Given the description of an element on the screen output the (x, y) to click on. 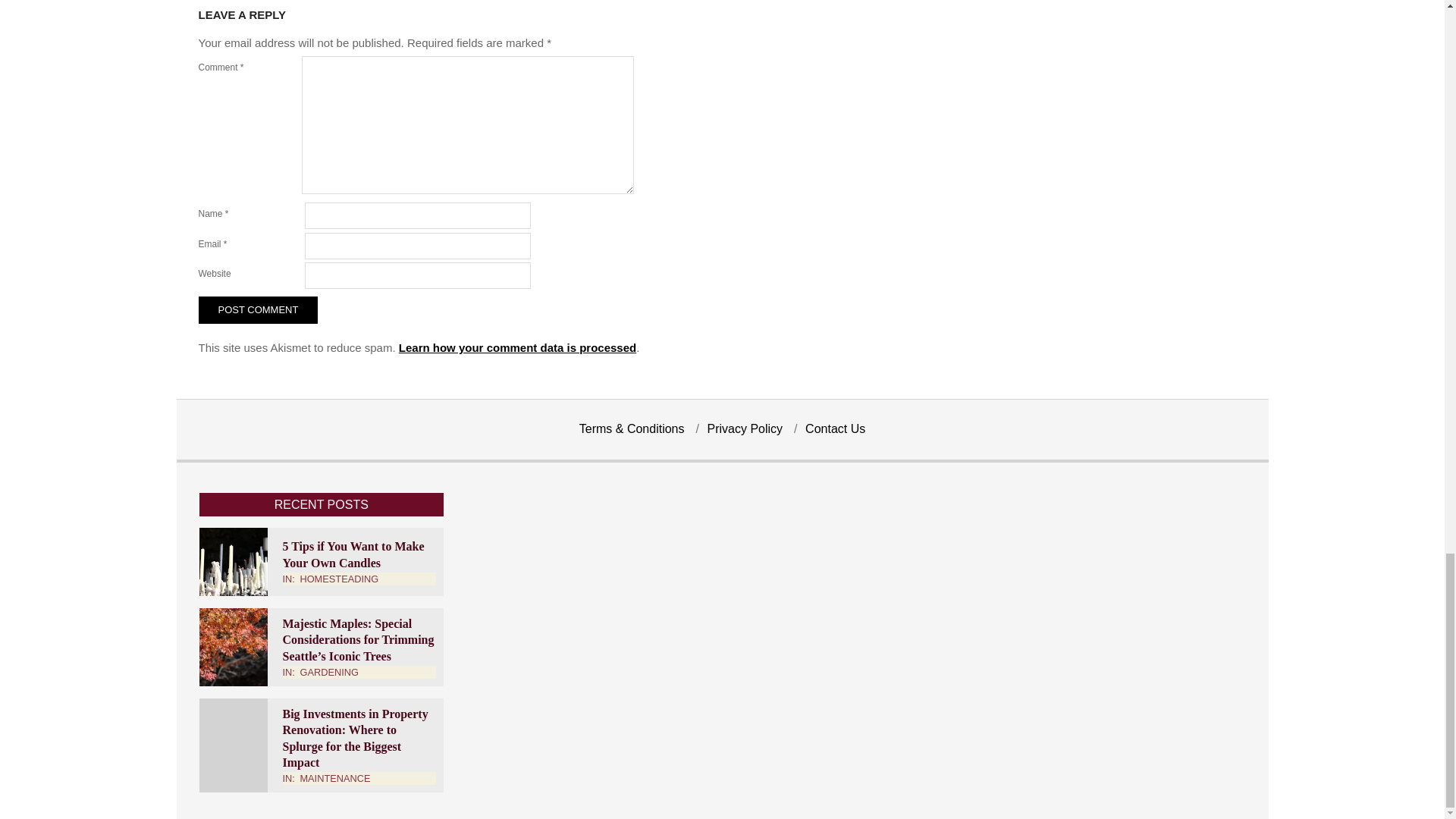
Post Comment (258, 309)
Post Comment (258, 309)
Learn how your comment data is processed (517, 347)
